Given the description of an element on the screen output the (x, y) to click on. 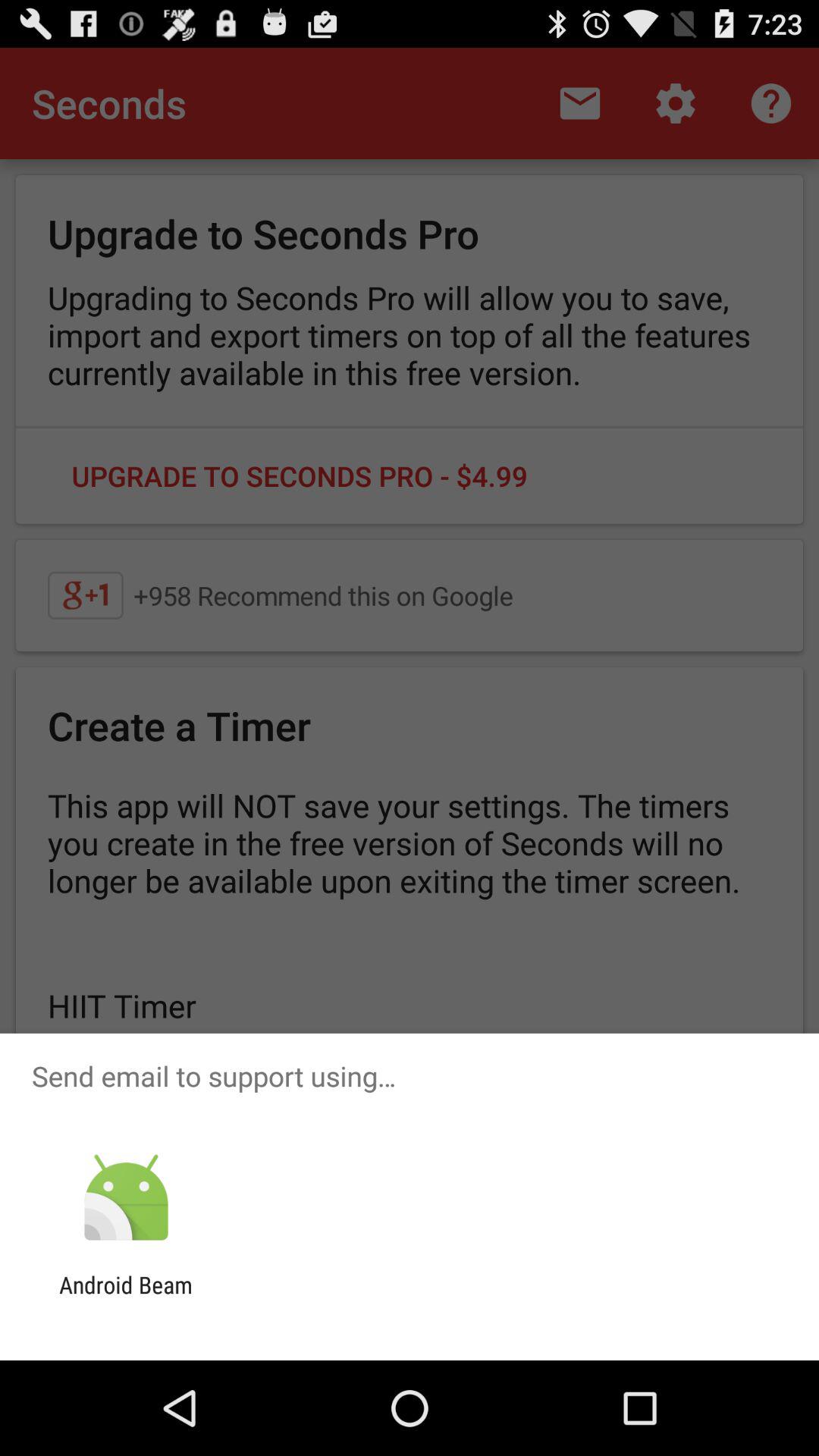
swipe to android beam app (125, 1298)
